Given the description of an element on the screen output the (x, y) to click on. 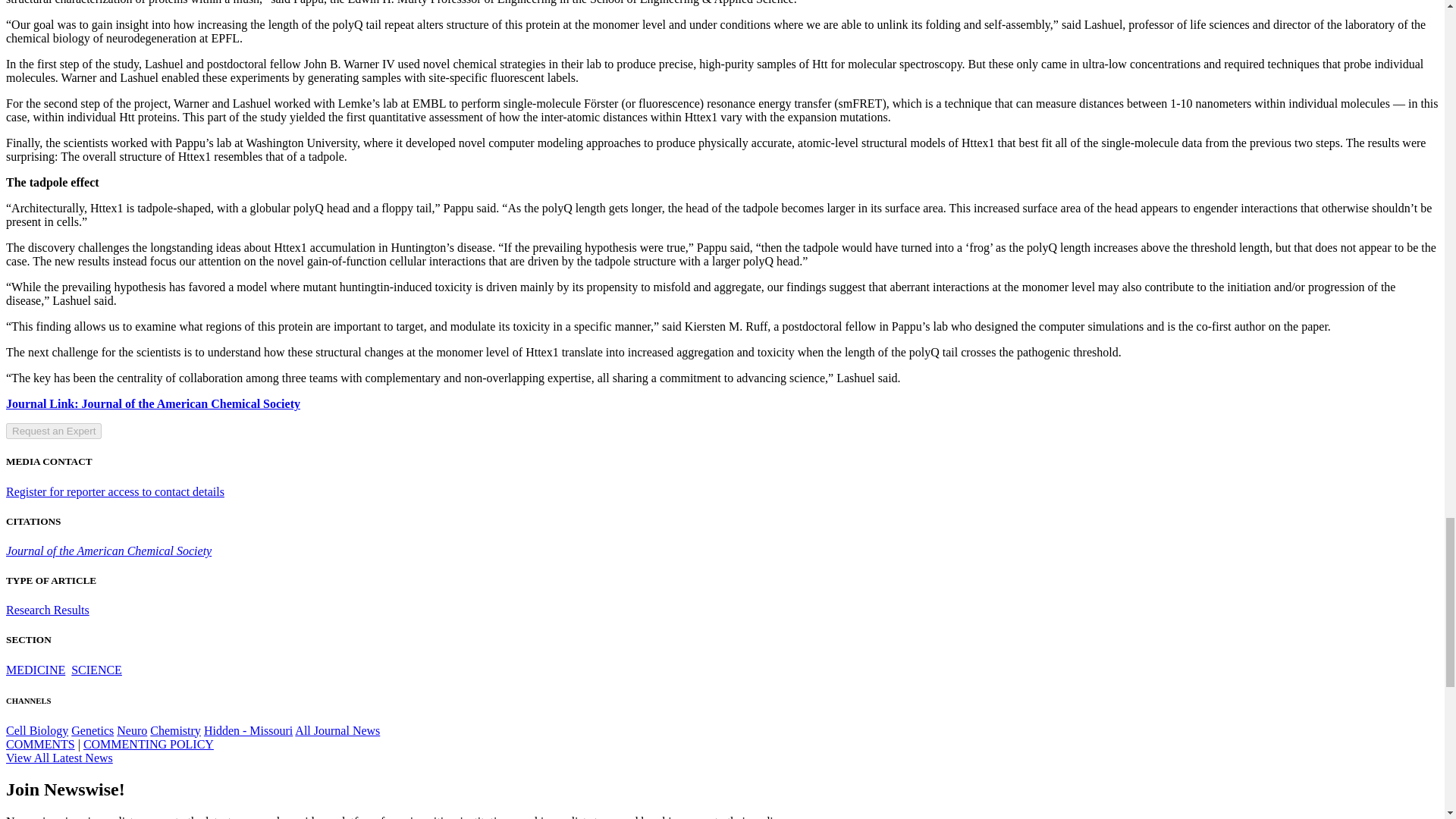
Show all articles in this channel (35, 669)
Research Results (46, 609)
Show all articles in this channel (96, 669)
Show all articles in this channel (92, 729)
Show all articles in this channel (36, 729)
